Given the description of an element on the screen output the (x, y) to click on. 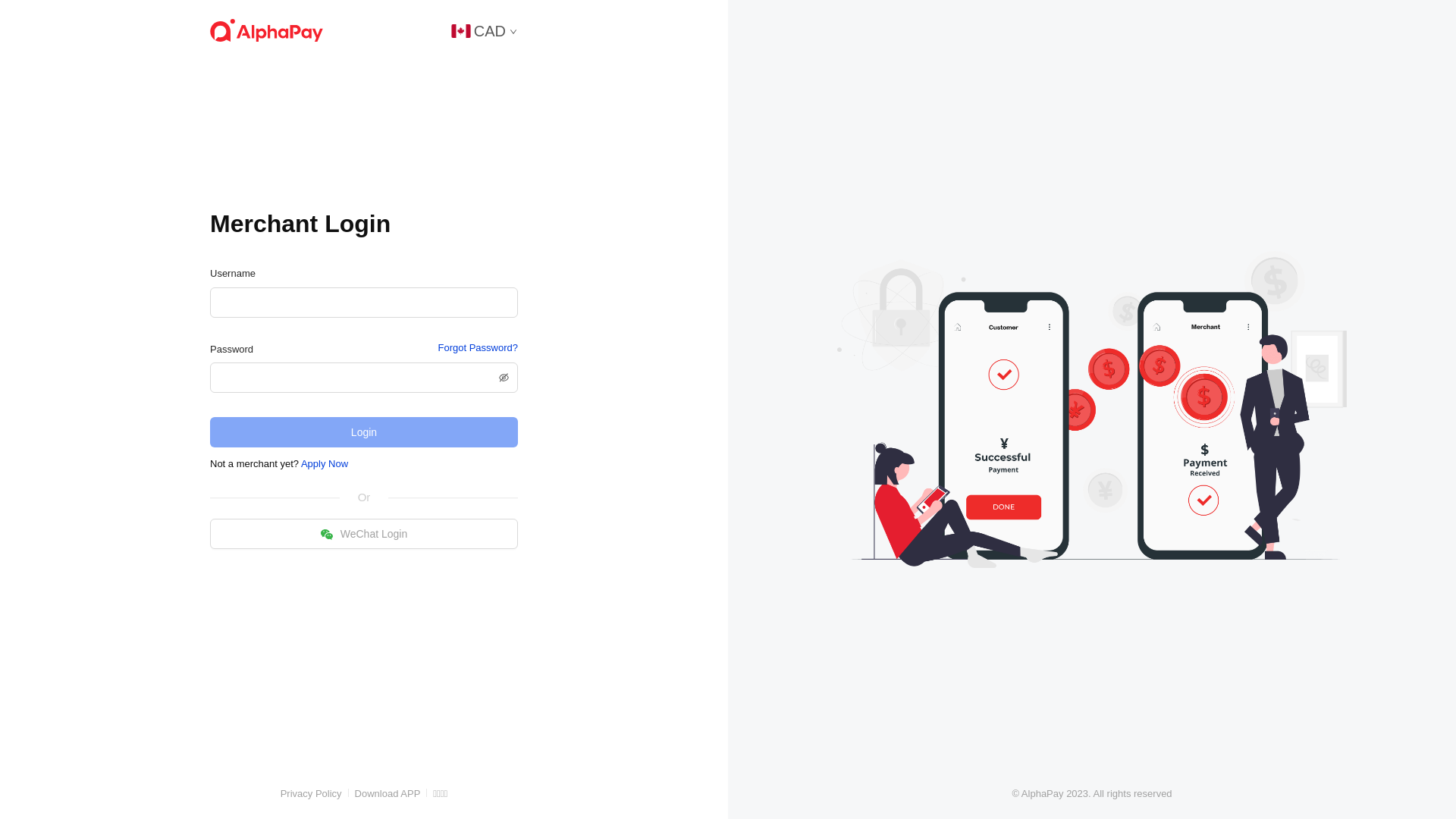
Download APP Element type: text (387, 792)
WeChat Login Element type: text (363, 533)
Login Element type: text (363, 432)
Apply Now Element type: text (324, 463)
CAD Element type: text (484, 30)
Privacy Policy Element type: text (311, 792)
Forgot Password? Element type: text (478, 347)
